Given the description of an element on the screen output the (x, y) to click on. 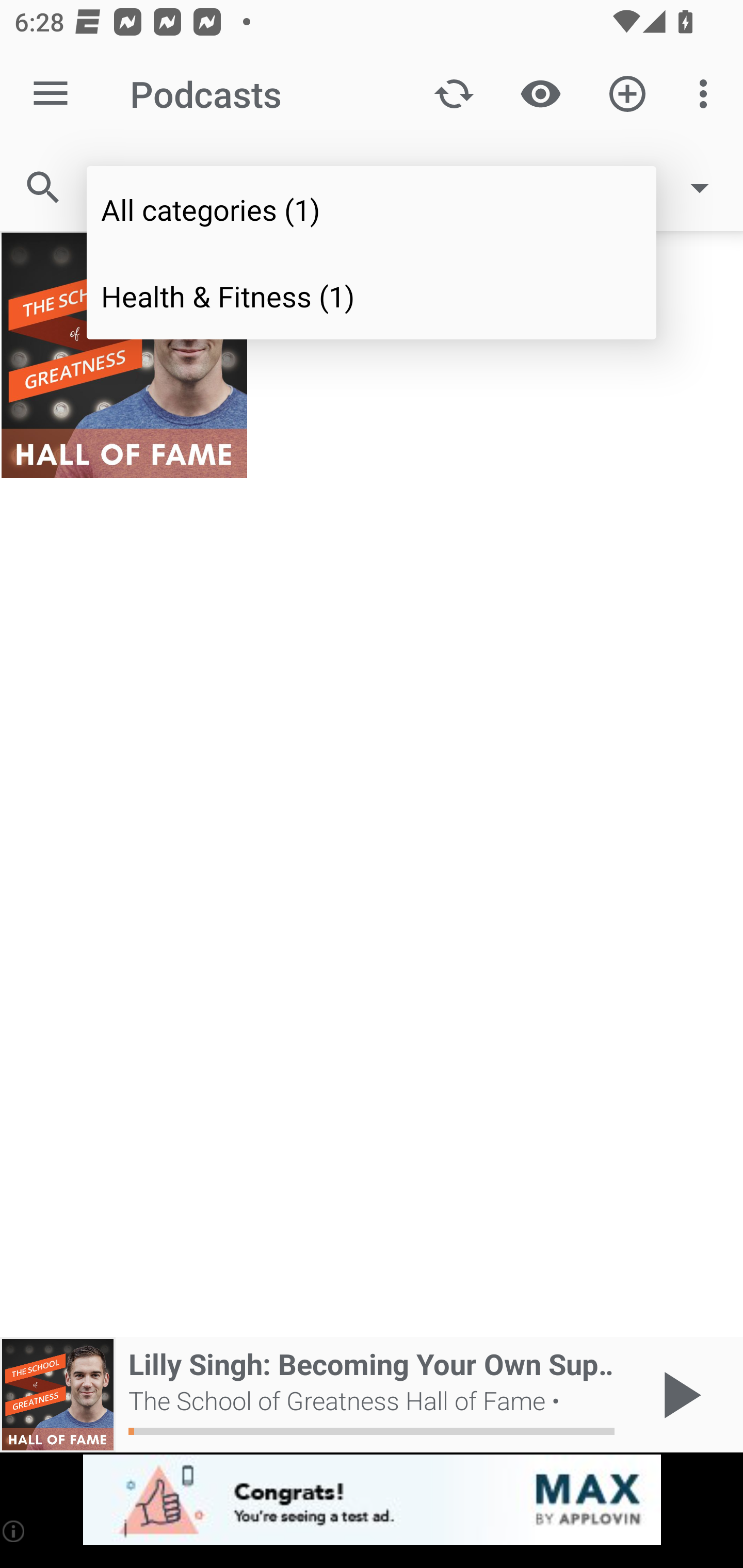
All categories (1) (371, 209)
Health & Fitness (1) (371, 295)
